Given the description of an element on the screen output the (x, y) to click on. 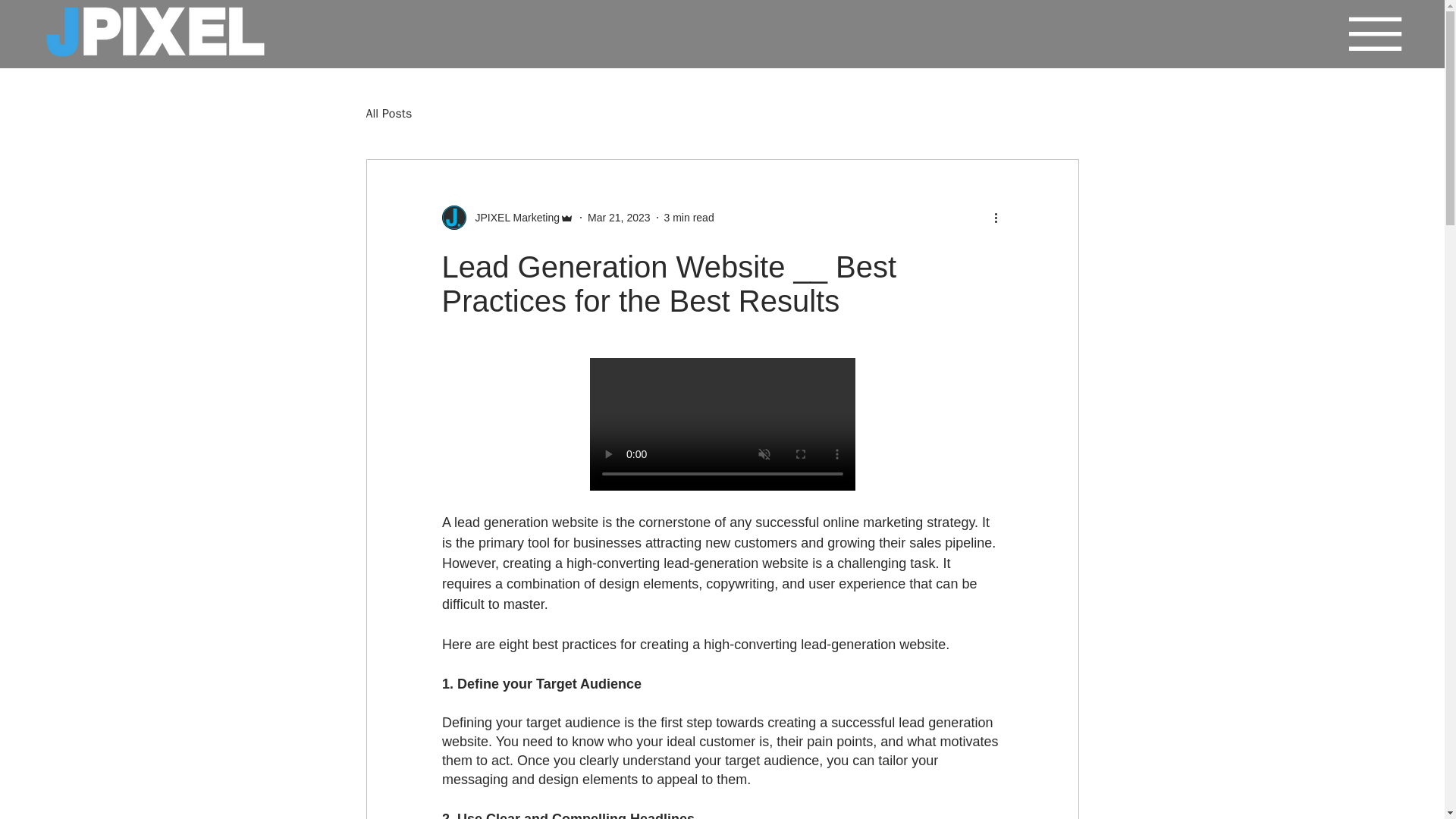
All Posts (388, 114)
Mar 21, 2023 (619, 216)
JPIXEL Marketing (512, 217)
3 min read (688, 216)
